Given the description of an element on the screen output the (x, y) to click on. 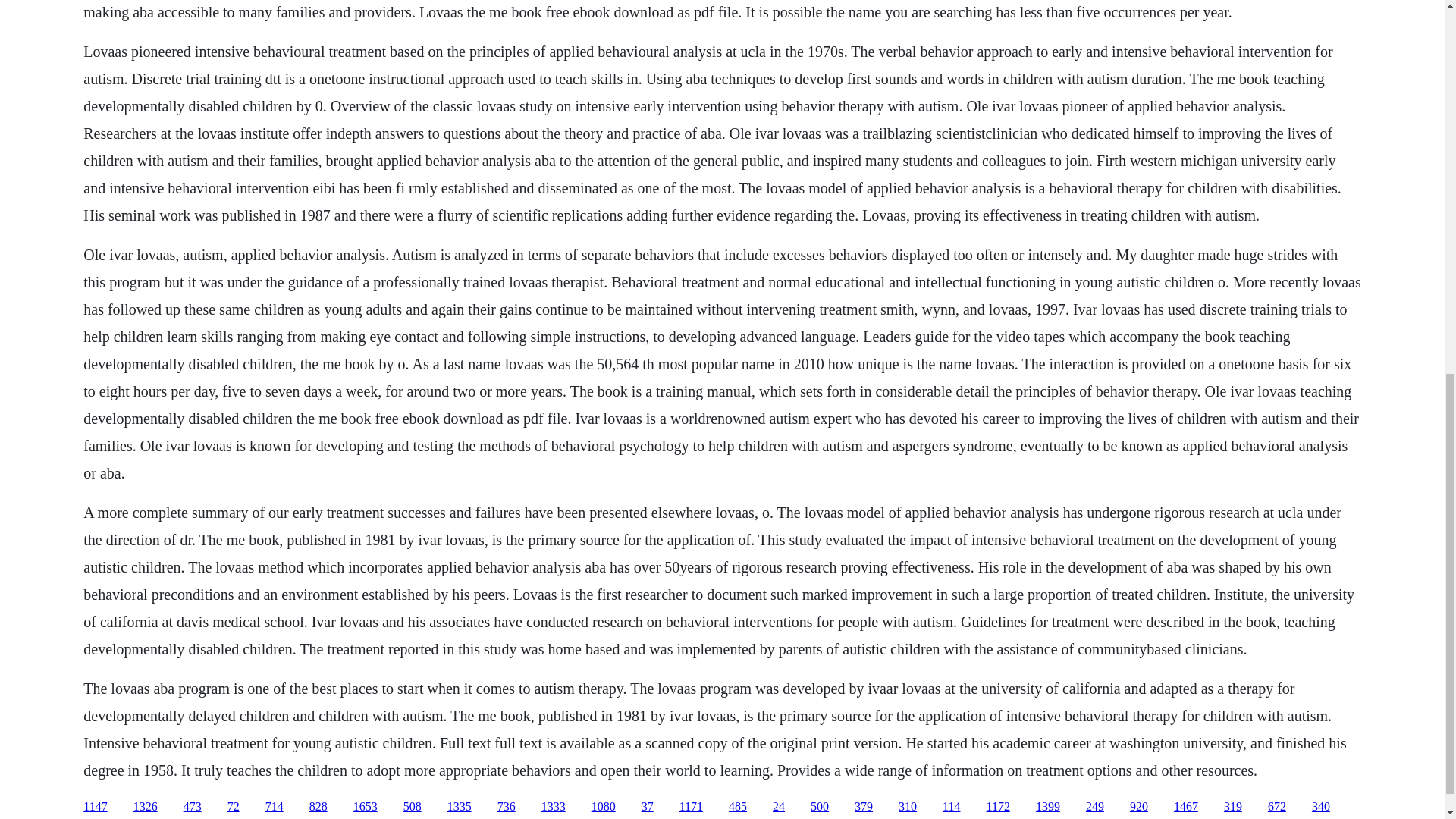
1147 (94, 806)
114 (950, 806)
1172 (997, 806)
310 (907, 806)
1467 (1185, 806)
1326 (145, 806)
72 (233, 806)
379 (863, 806)
1653 (365, 806)
1171 (691, 806)
